Given the description of an element on the screen output the (x, y) to click on. 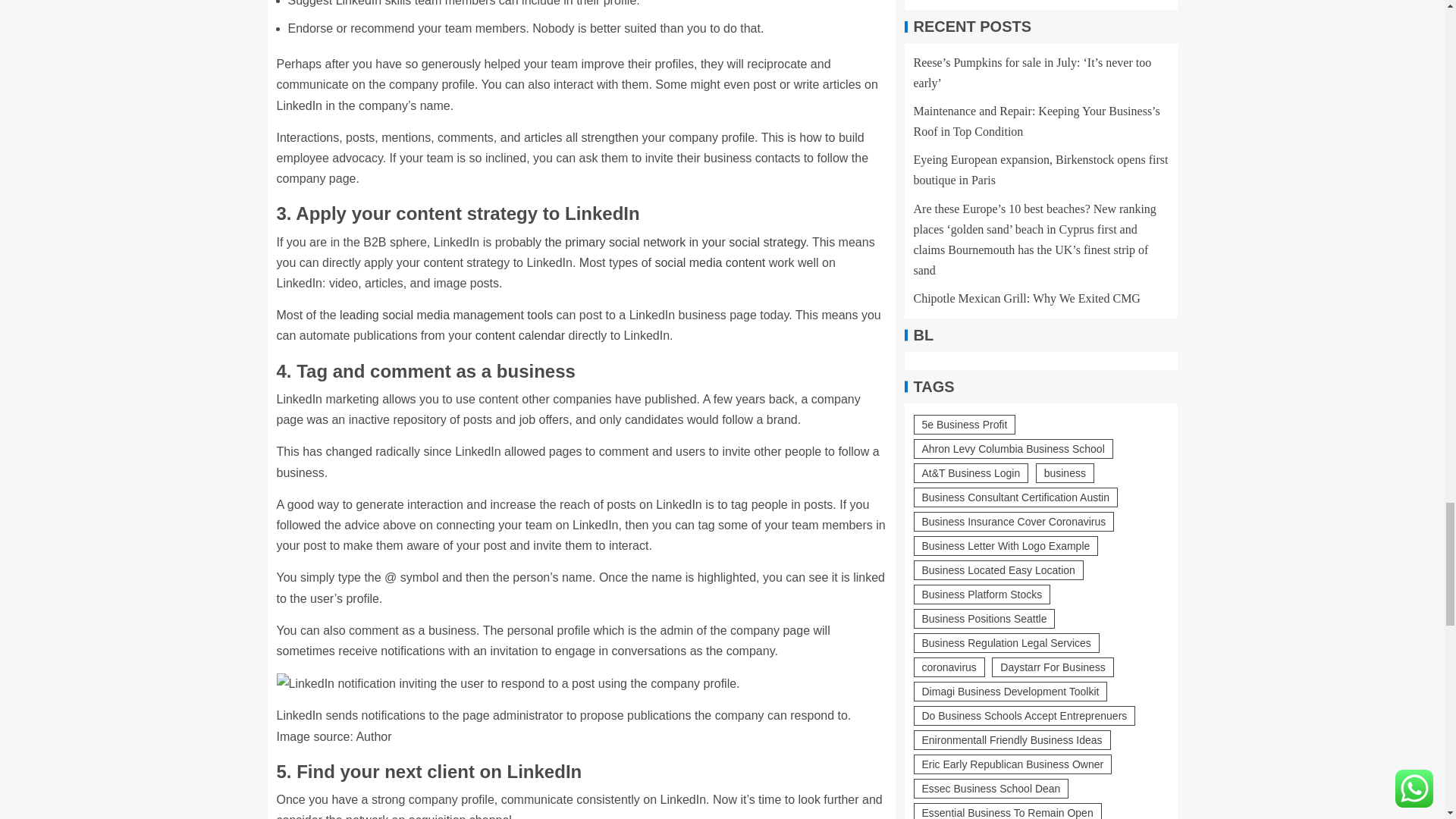
leading social media management tools (446, 314)
social media content (709, 262)
the primary social network in your social strategy (674, 241)
content calendar (520, 335)
